Given the description of an element on the screen output the (x, y) to click on. 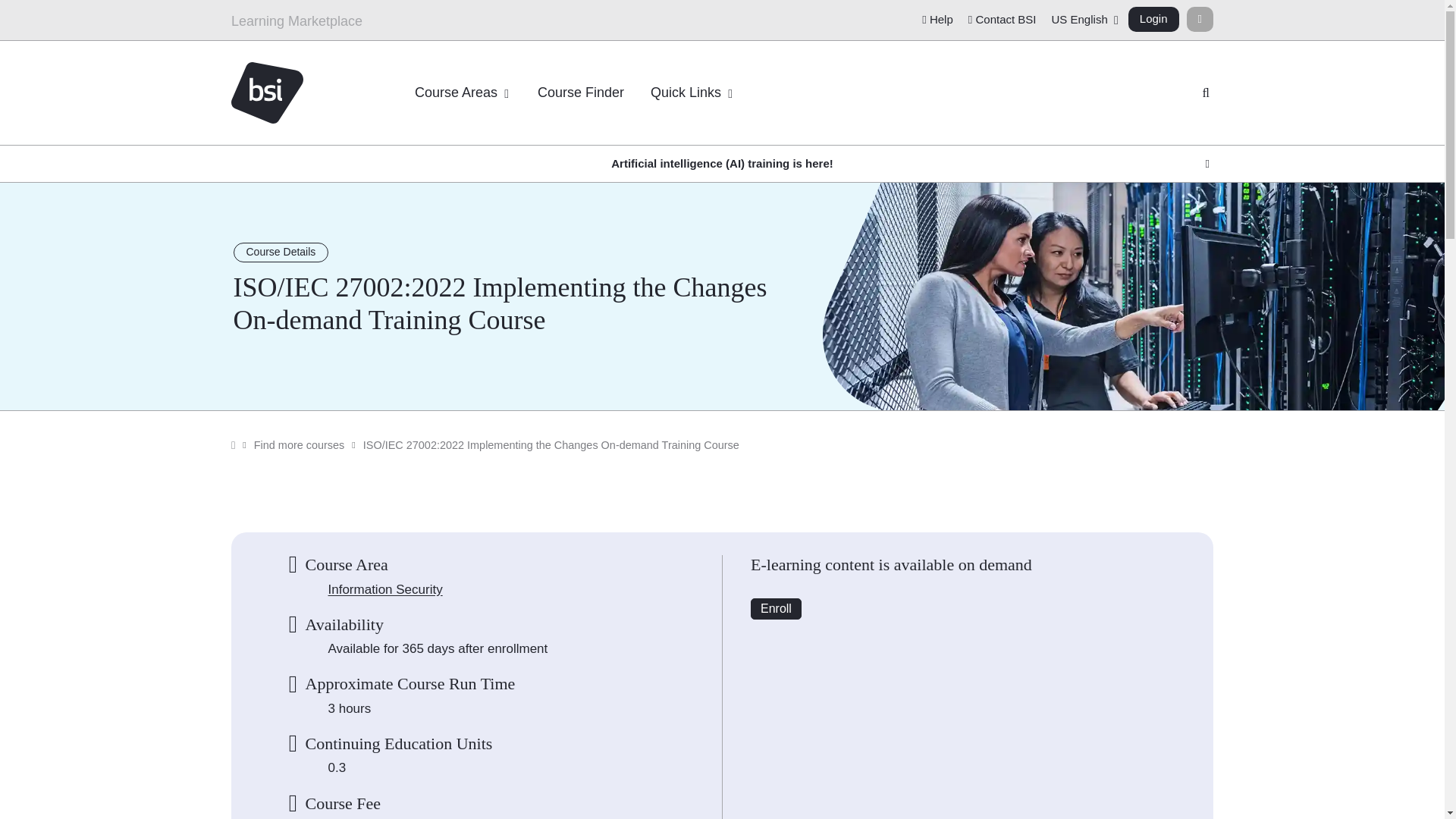
Course Finder (579, 92)
Help (937, 19)
Course Areas (462, 92)
Quick Links (692, 92)
